Given the description of an element on the screen output the (x, y) to click on. 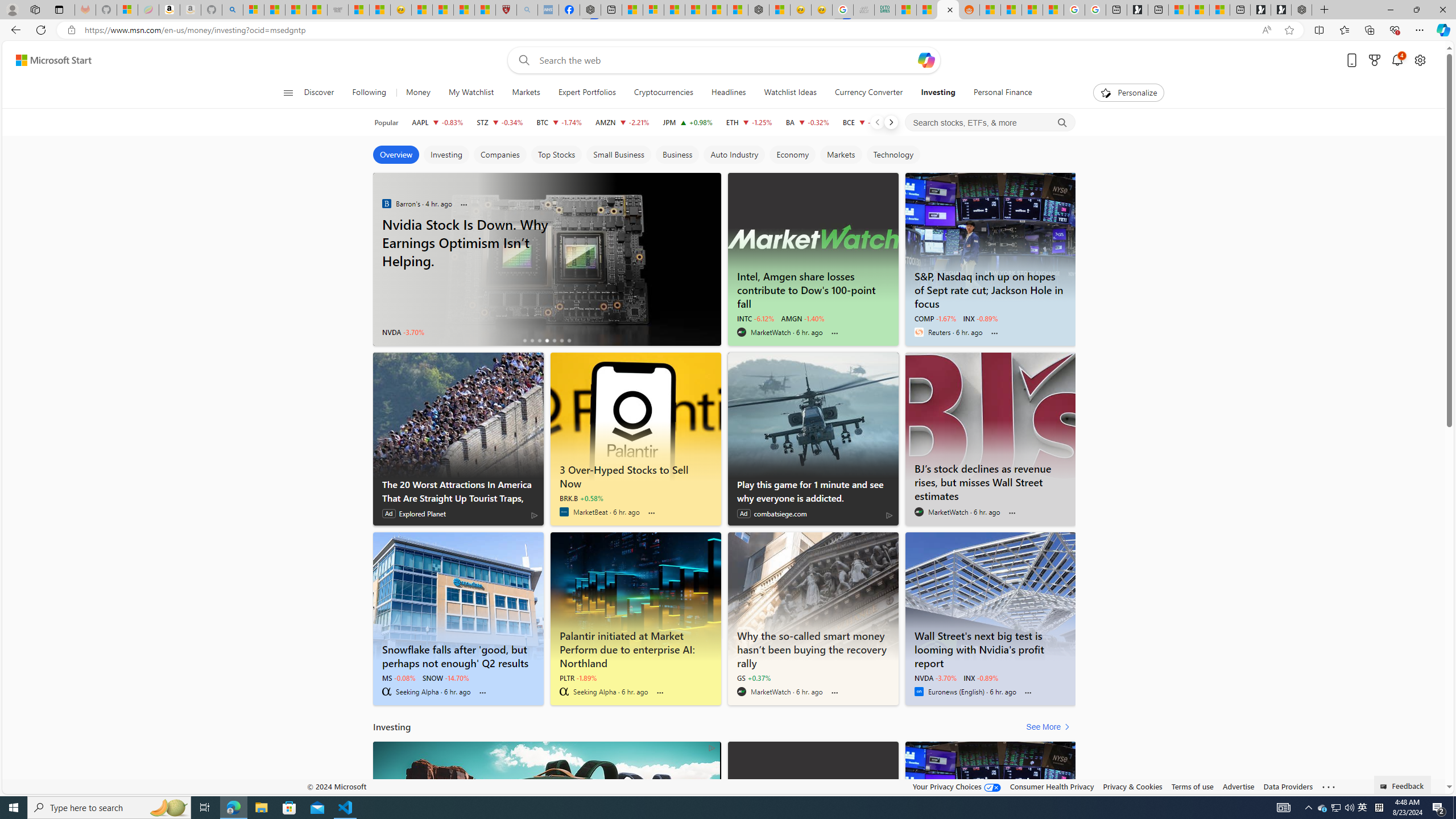
MarketBeat (564, 511)
COMP -1.67% (935, 317)
Markets (525, 92)
GS +0.37% (753, 677)
BA THE BOEING COMPANY decrease 172.87 -0.56 -0.32% (806, 122)
AMGN -1.40% (802, 317)
Read aloud this page (Ctrl+Shift+U) (1266, 29)
Overview (395, 154)
AdChoices (710, 747)
Money (418, 92)
See More (1049, 726)
